Given the description of an element on the screen output the (x, y) to click on. 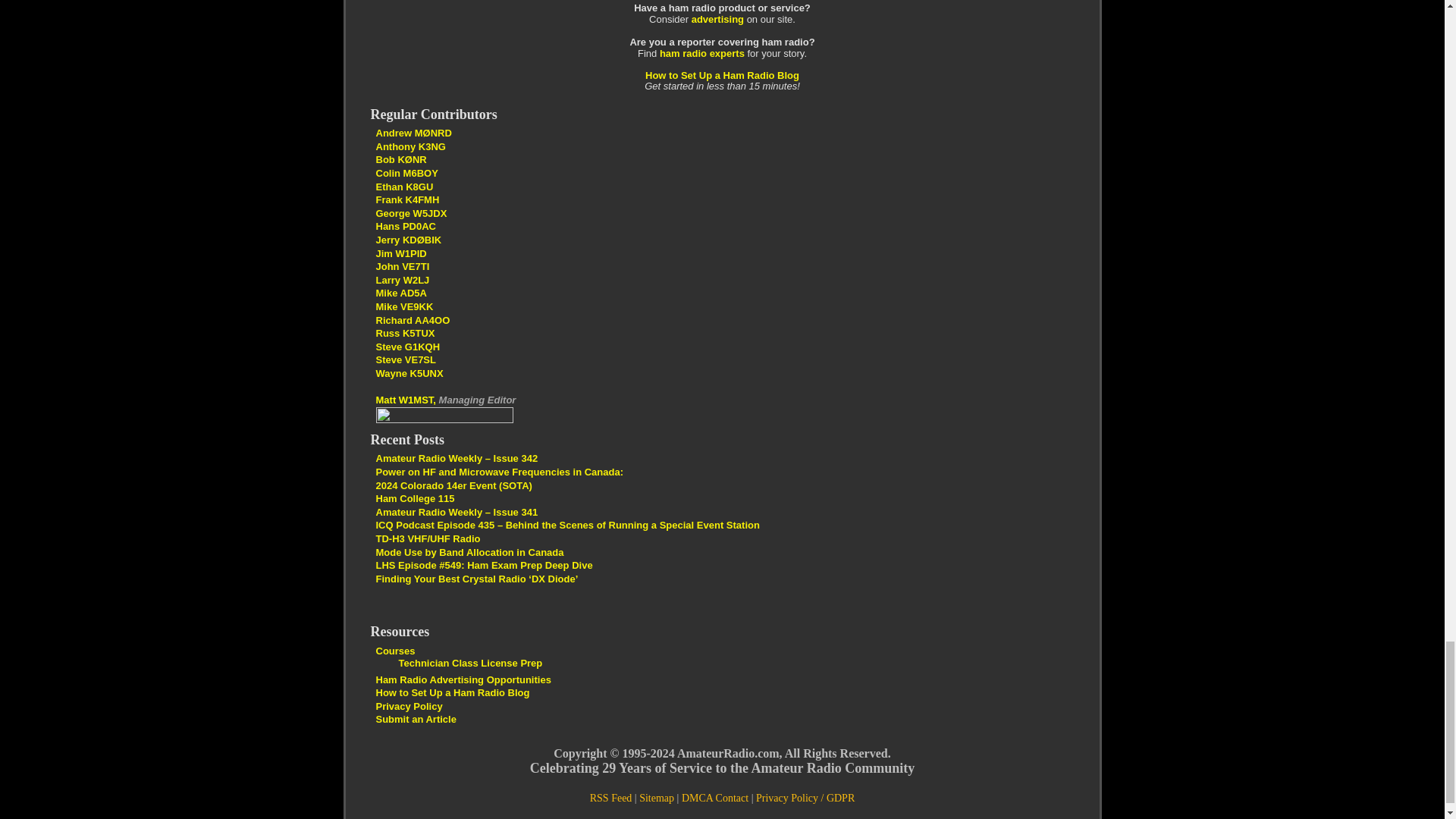
Thoughts of a Dutch radio amateur (405, 225)
Entertain, Encourage, Educate and Inspire (408, 239)
